Given the description of an element on the screen output the (x, y) to click on. 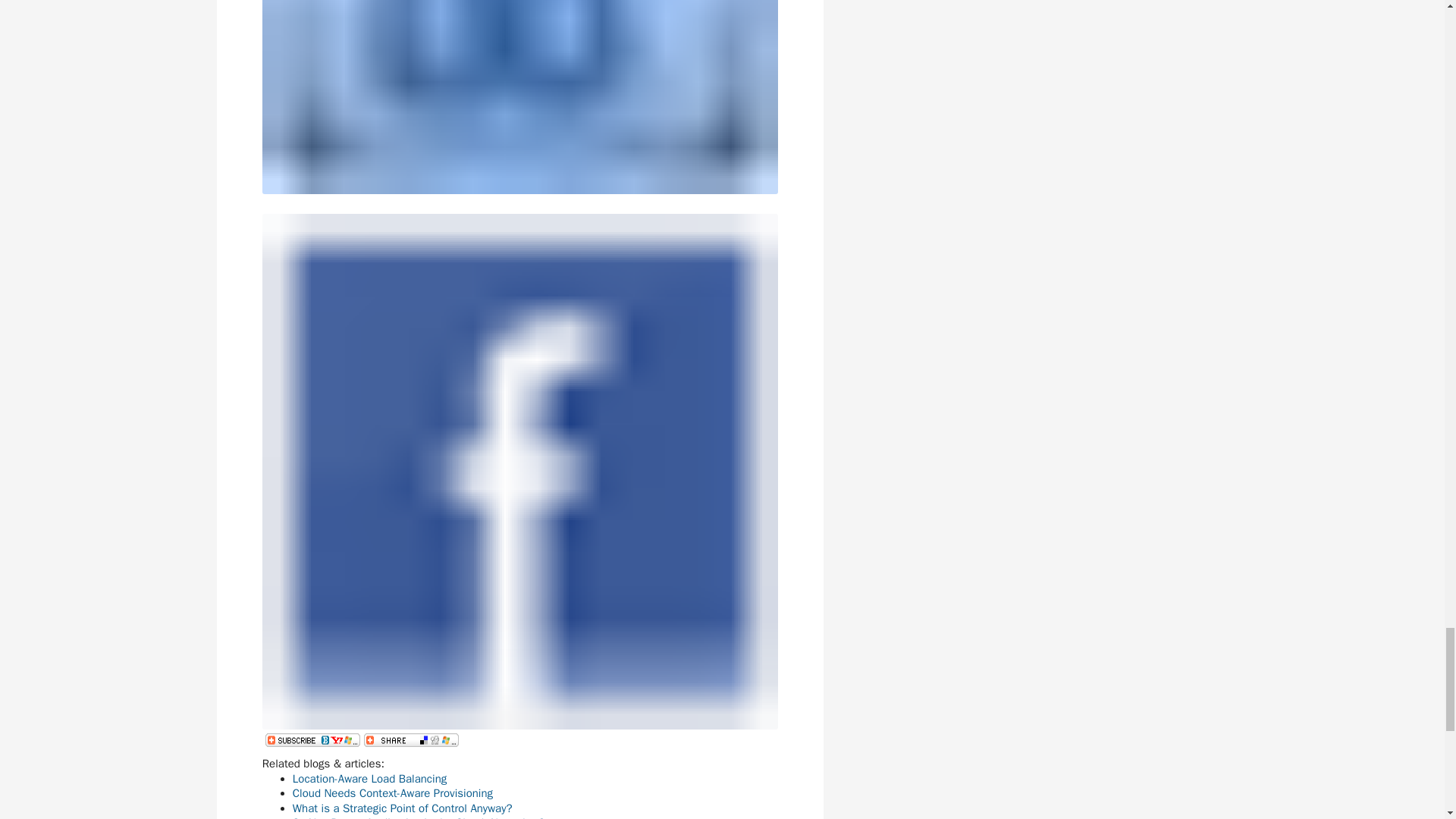
Bookmark and Share (411, 739)
Subscribe using any feed reader! (311, 739)
Cloud Needs Context-Aware Provisioning (392, 793)
Location-Aware Load Balancing (369, 778)
